Given the description of an element on the screen output the (x, y) to click on. 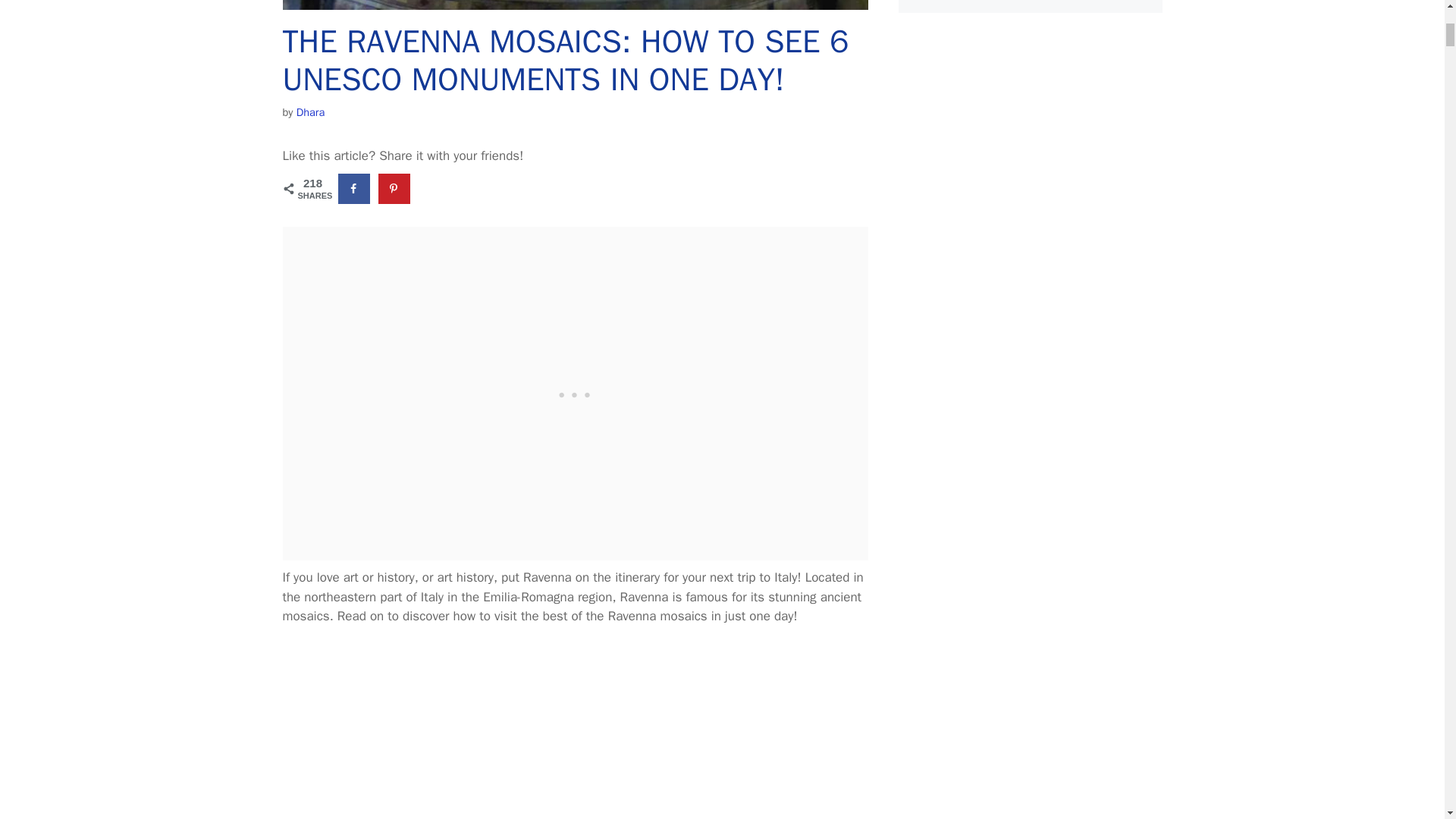
Share on X (435, 188)
Share on Facebook (354, 188)
View all posts by Dhara (310, 111)
Dhara (310, 111)
Save to Pinterest (395, 188)
